Given the description of an element on the screen output the (x, y) to click on. 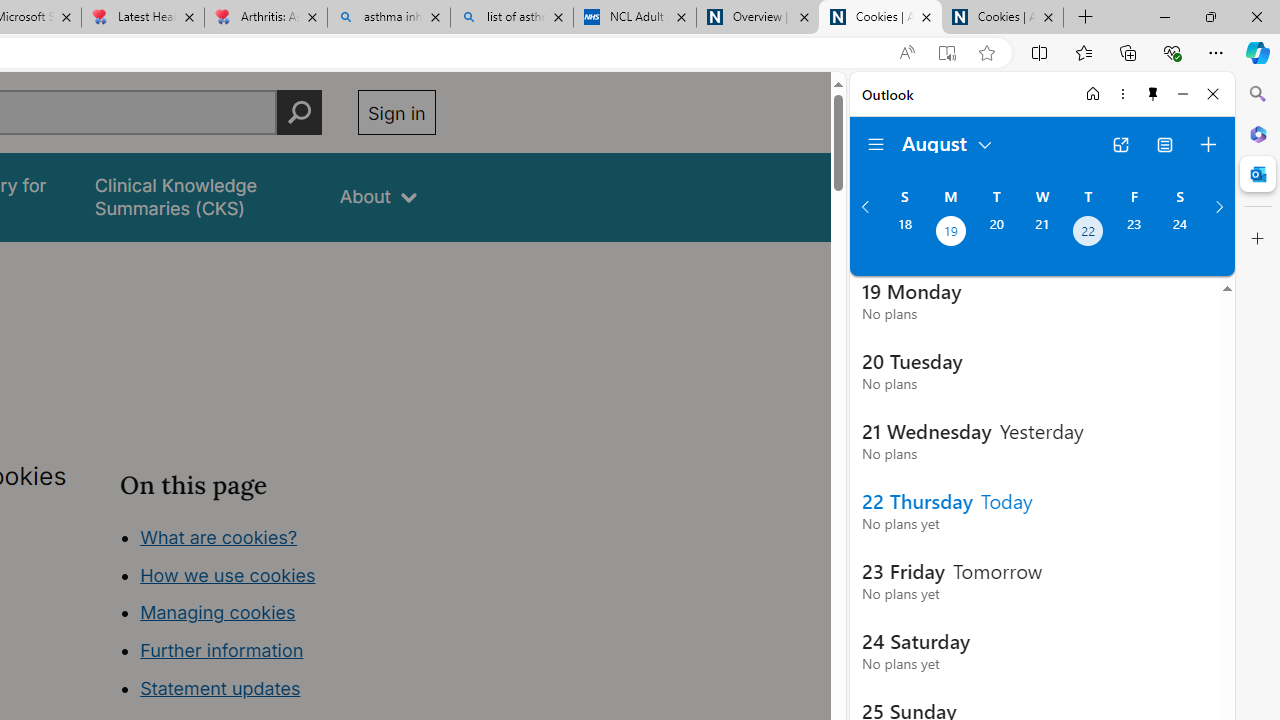
Cookies | About | NICE (1002, 17)
Sunday, August 18, 2024.  (904, 233)
Perform search (299, 112)
Open in new tab (1120, 144)
Statement updates (219, 688)
